Given the description of an element on the screen output the (x, y) to click on. 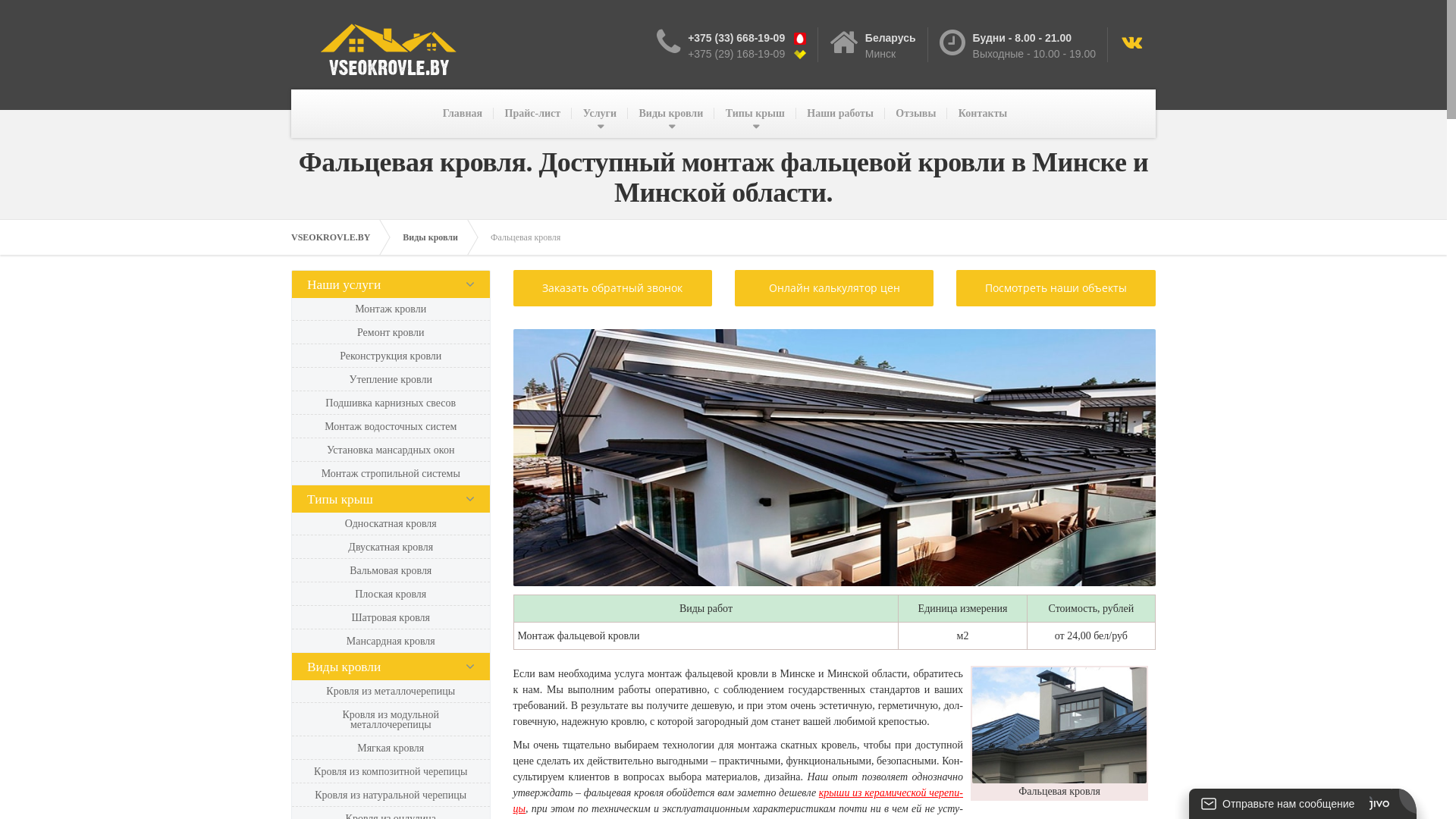
+375 (33) 668-19-09   Element type: text (740, 37)
VSEOKROVLE.BY Element type: text (338, 236)
+375 (29) 168-19-09    Element type: text (740, 53)
